Given the description of an element on the screen output the (x, y) to click on. 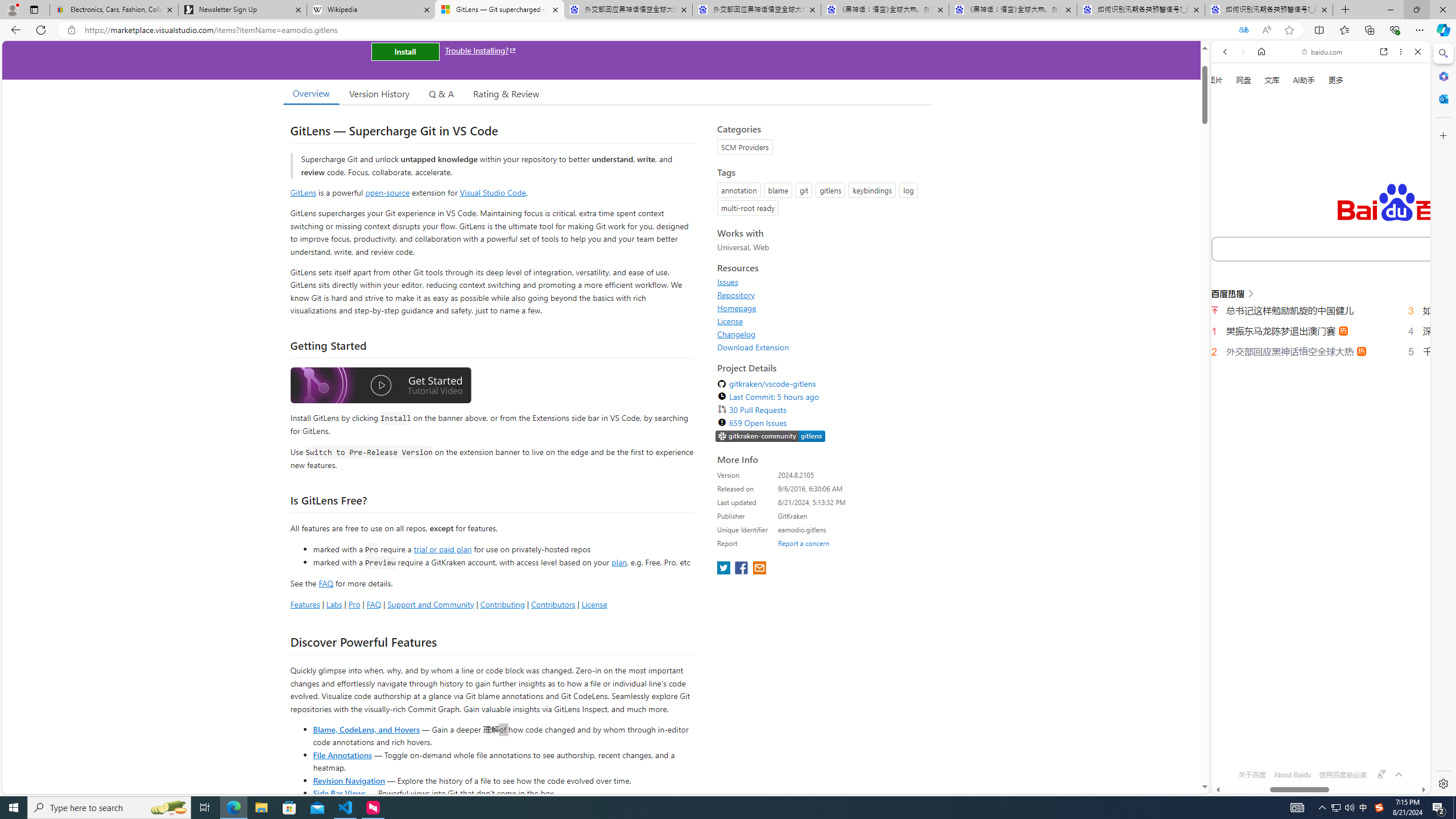
Newsletter Sign Up (242, 9)
File Annotations (342, 754)
English (US) (1320, 329)
Issues (820, 281)
Contributing (502, 603)
Pro (354, 603)
